Given the description of an element on the screen output the (x, y) to click on. 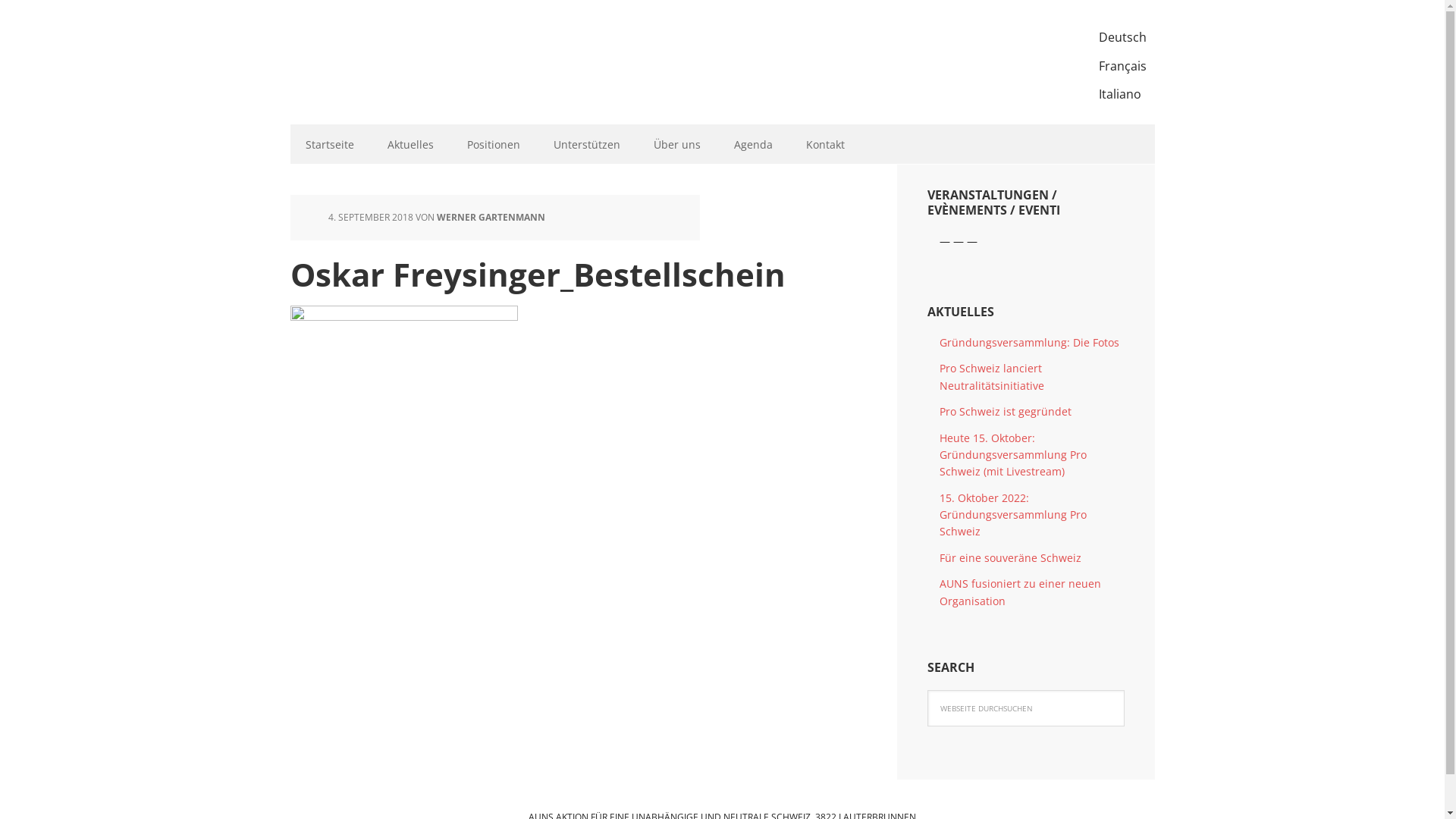
AUNS Element type: text (387, 53)
Suchen Element type: text (1123, 689)
AUNS fusioniert zu einer neuen Organisation Element type: text (1019, 591)
Aktuelles Element type: text (409, 144)
WERNER GARTENMANN Element type: text (490, 216)
Agenda Element type: text (752, 144)
Deutsch Element type: text (1121, 37)
Italiano Element type: text (1121, 94)
Startseite Element type: text (328, 144)
Positionen Element type: text (493, 144)
Kontakt Element type: text (824, 144)
